Given the description of an element on the screen output the (x, y) to click on. 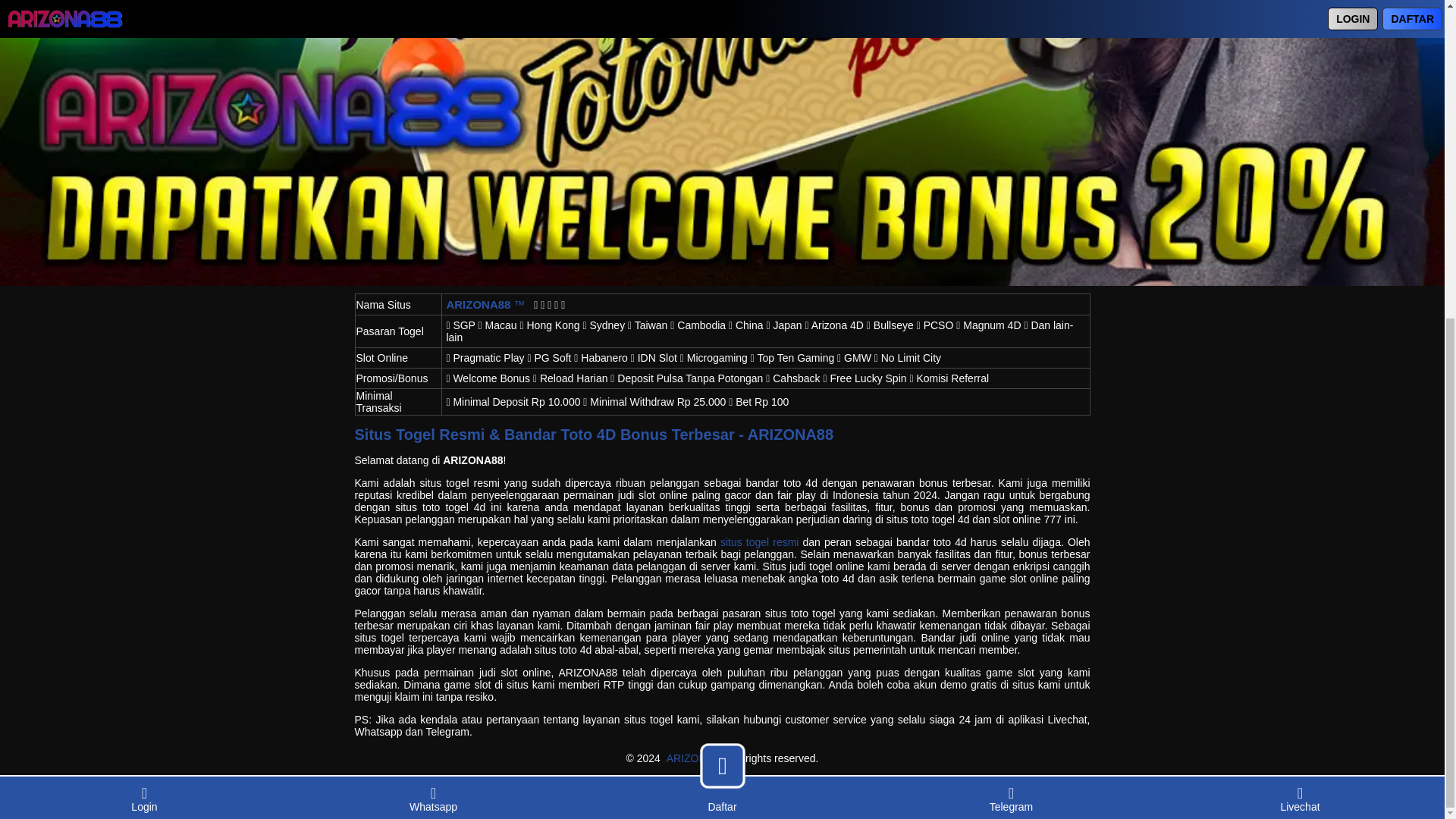
Login (144, 283)
ARIZONA88 (695, 758)
Whatsapp (433, 283)
Telegram (1011, 283)
situs togel resmi (759, 541)
Daftar (722, 291)
